Given the description of an element on the screen output the (x, y) to click on. 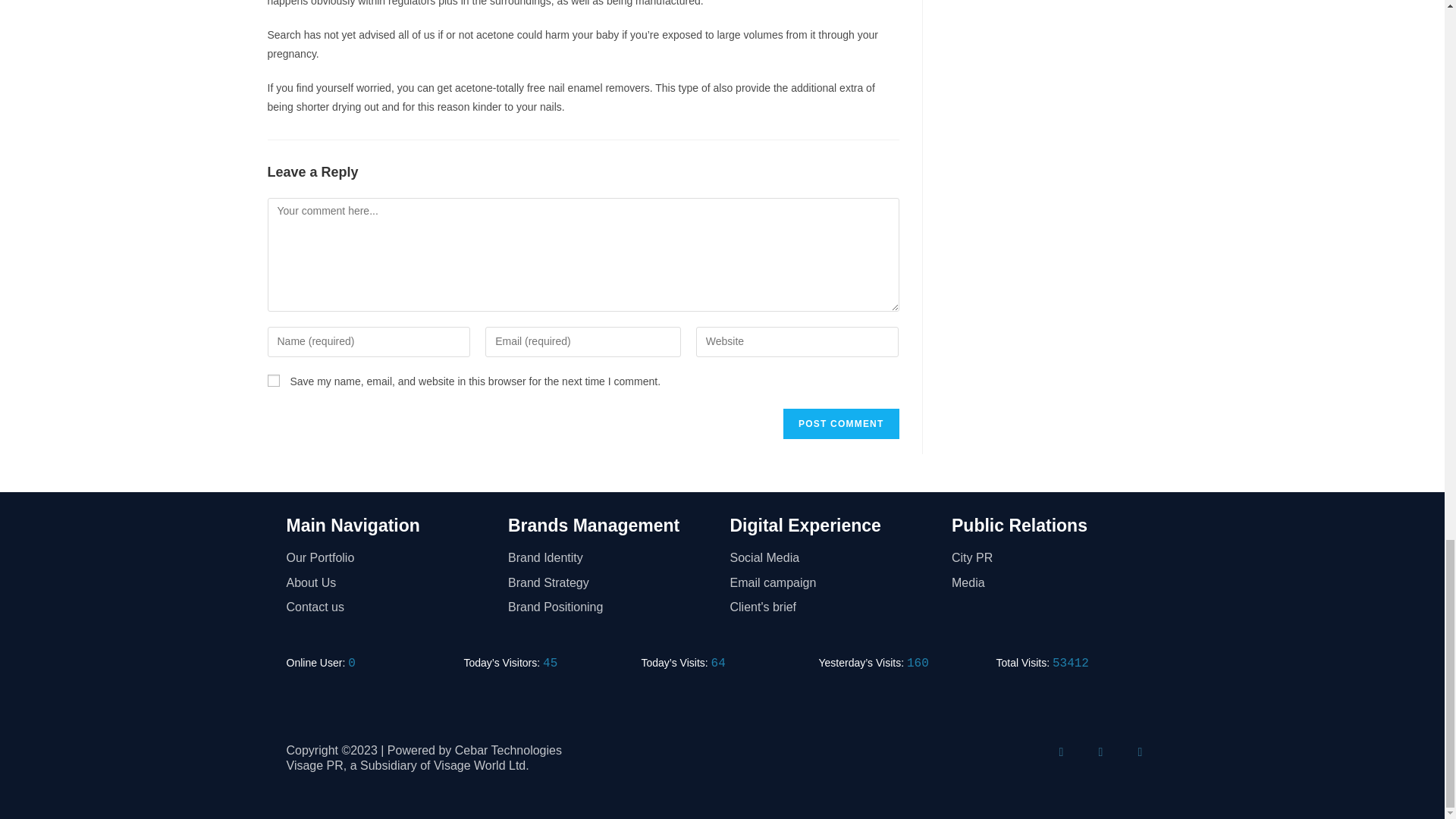
Post Comment (840, 423)
Brand Identity (611, 558)
Post Comment (840, 423)
Digital Experience (804, 525)
About Us (389, 583)
Social Media (832, 558)
Email campaign (832, 583)
Brands Management (593, 525)
Brand Strategy (611, 583)
yes (272, 380)
Our Portfolio (389, 558)
Client's brief (832, 608)
Public Relations (1019, 525)
Brand Positioning (611, 608)
Contact us (389, 608)
